Given the description of an element on the screen output the (x, y) to click on. 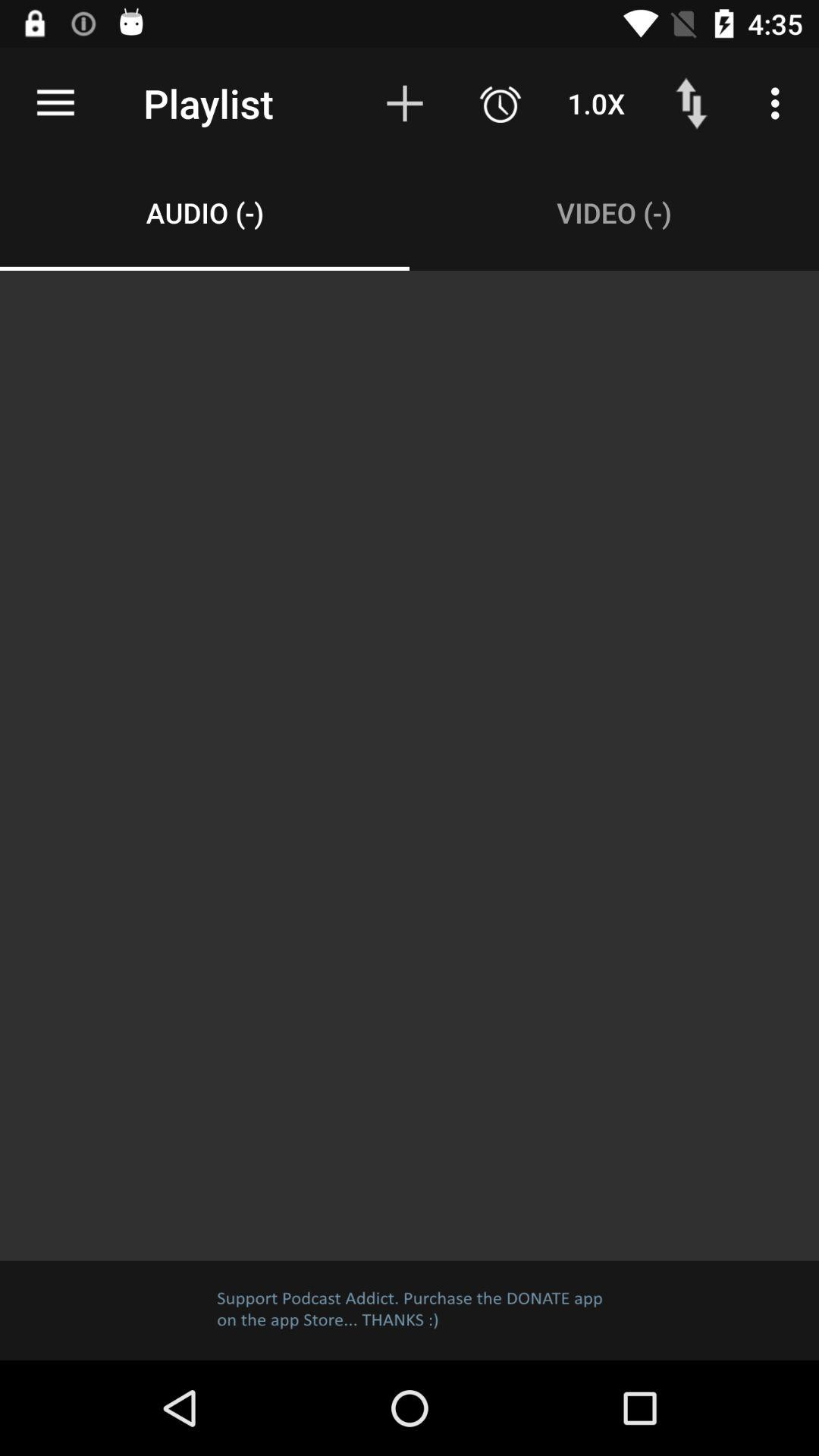
tap item to the right of playlist item (404, 103)
